Given the description of an element on the screen output the (x, y) to click on. 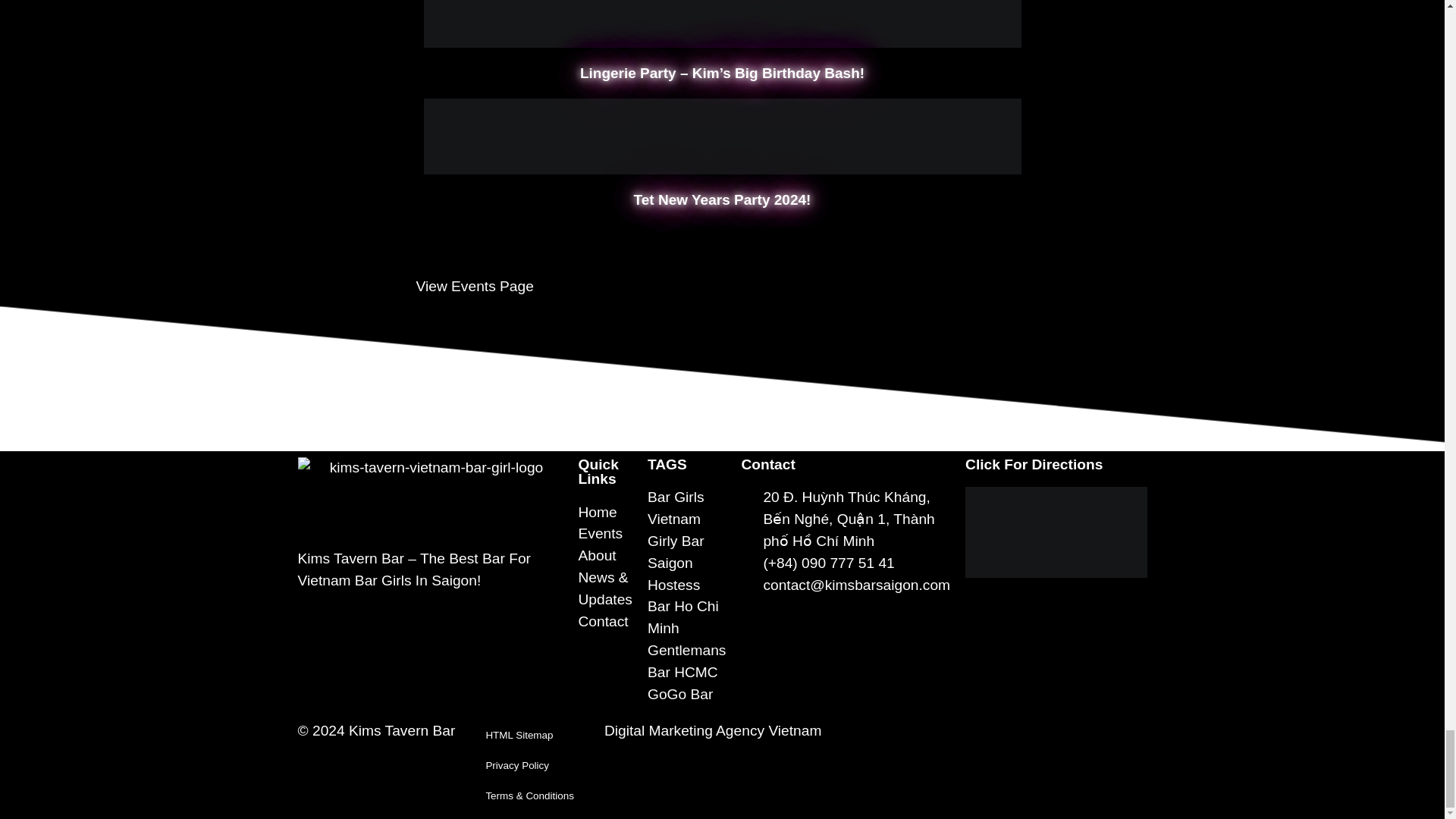
Tet New Years Party 2024! (721, 199)
Contact (604, 621)
View Events Page (473, 286)
Events (604, 534)
About (604, 556)
Home (604, 513)
